Given the description of an element on the screen output the (x, y) to click on. 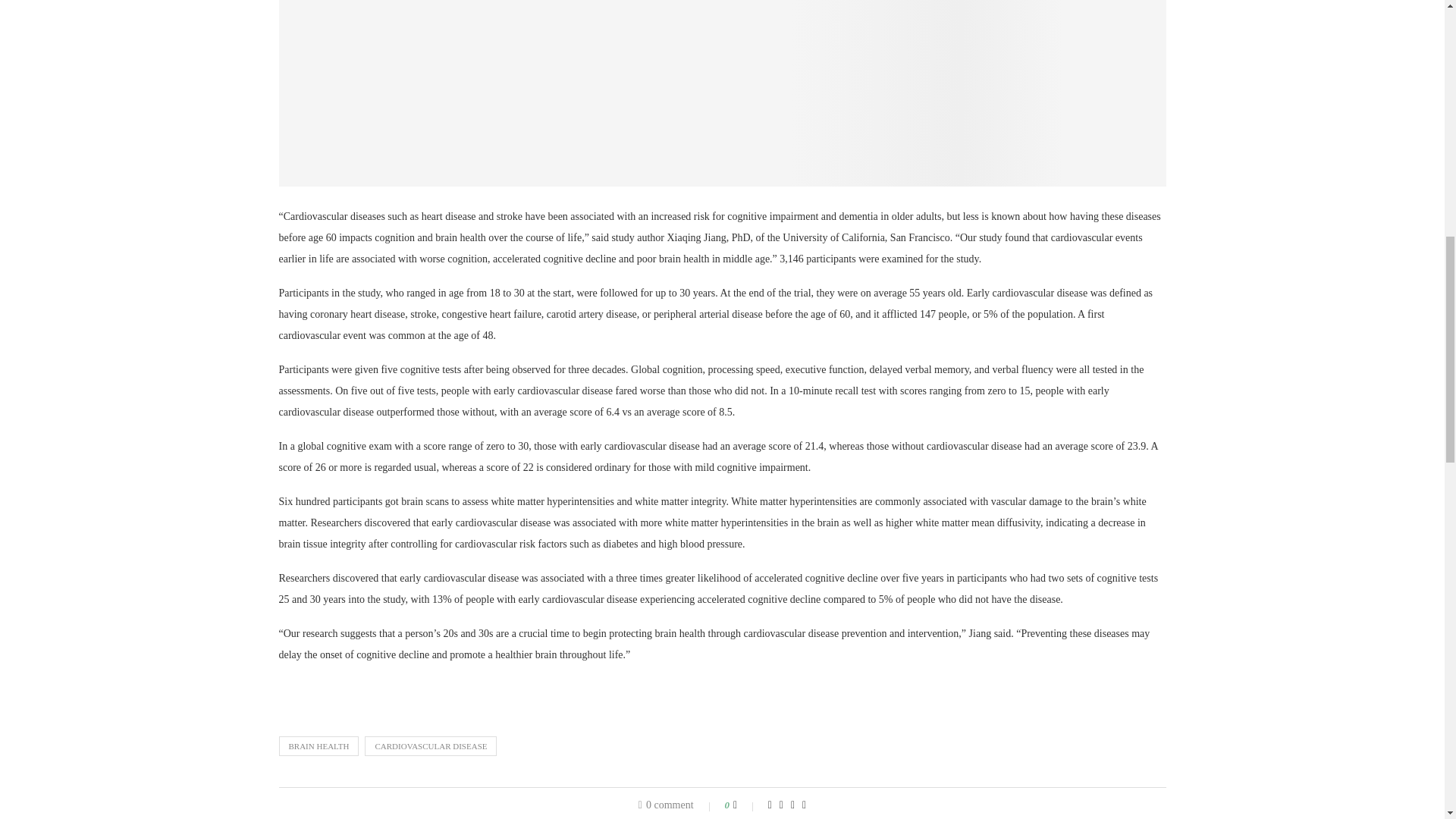
BRAIN HEALTH (319, 745)
CARDIOVASCULAR DISEASE (430, 745)
Like (745, 805)
